Given the description of an element on the screen output the (x, y) to click on. 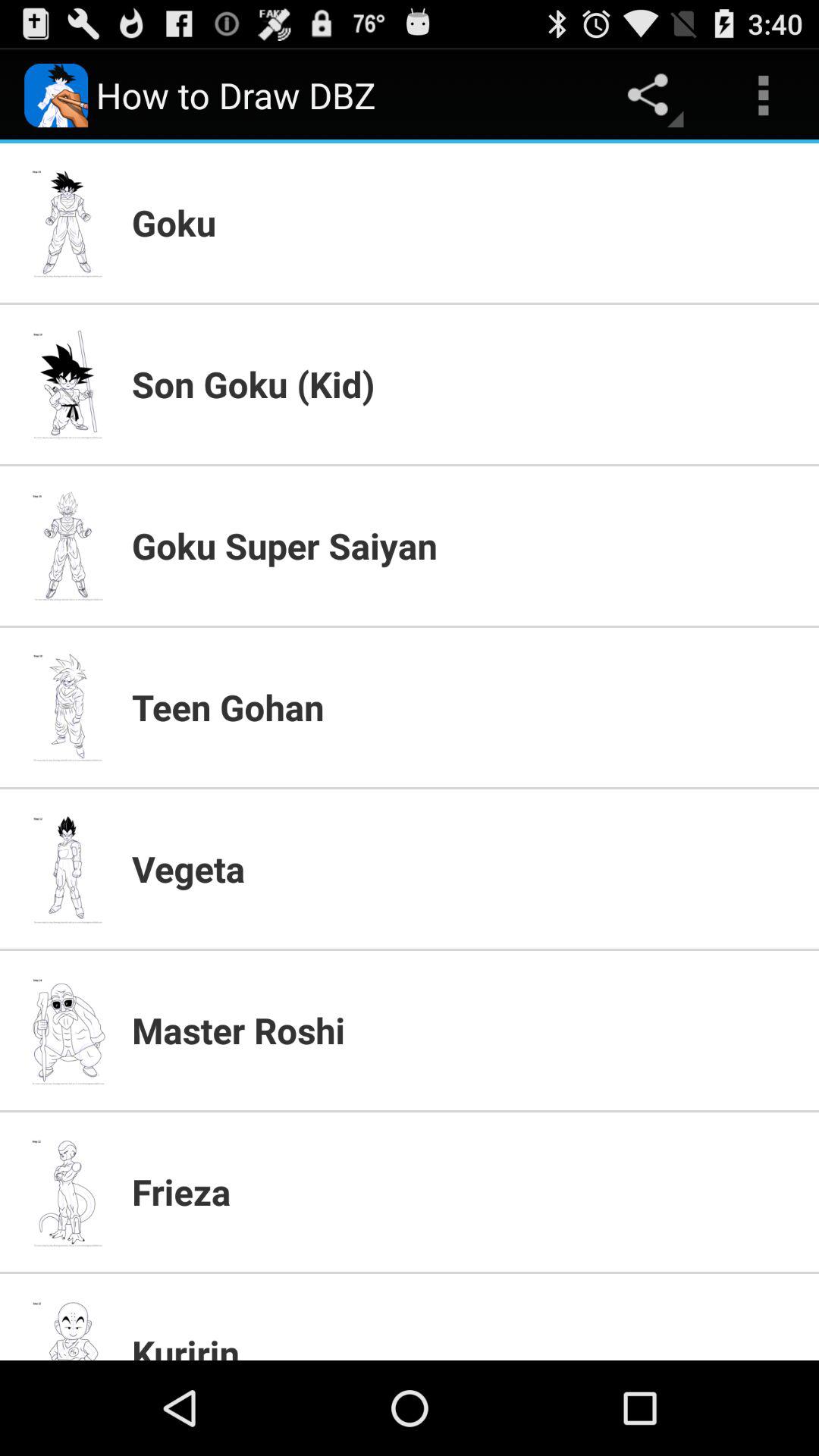
turn off item below teen gohan app (465, 868)
